Given the description of an element on the screen output the (x, y) to click on. 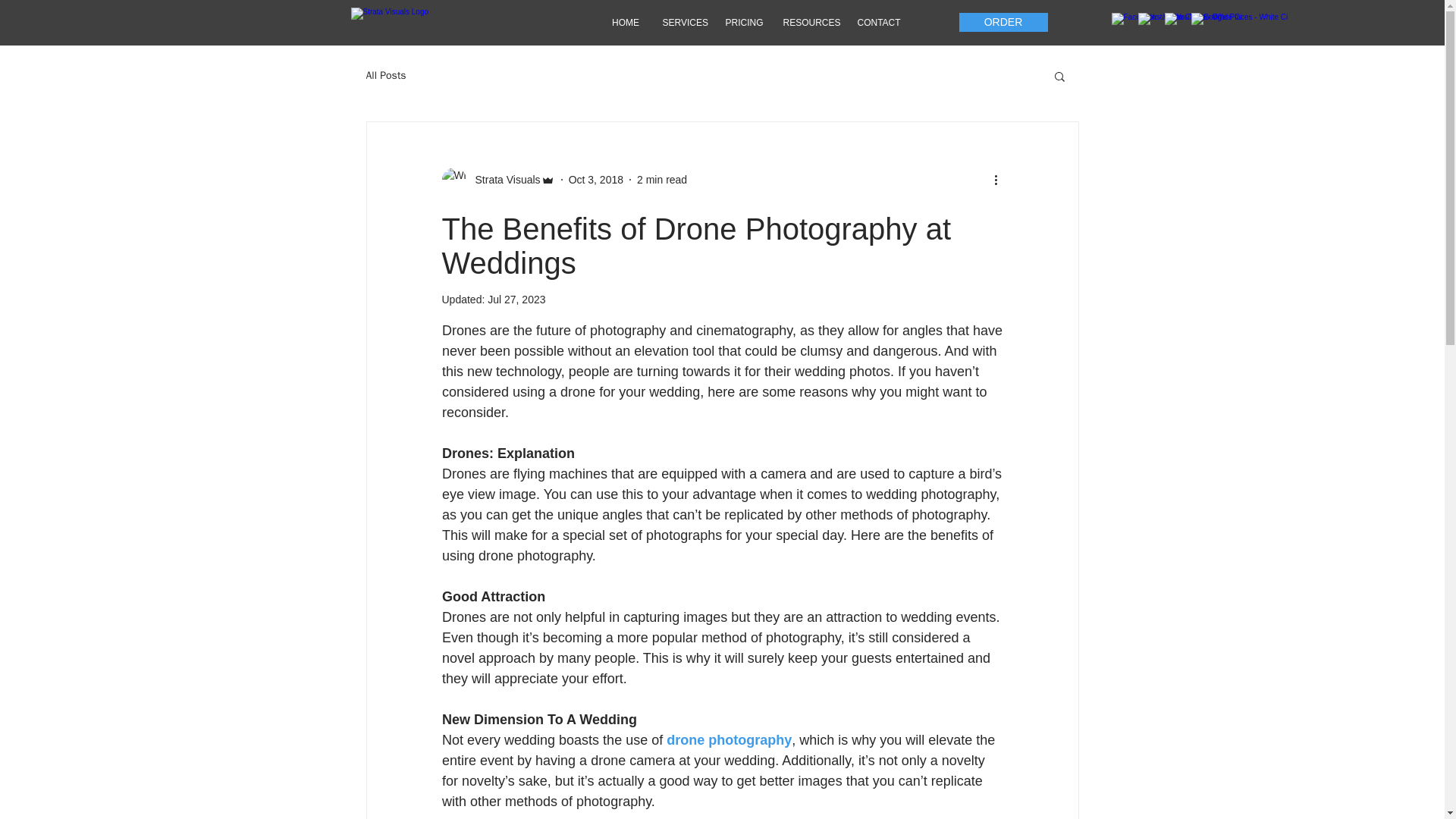
Strata Visuals (502, 179)
All Posts (385, 75)
HOME (624, 22)
ORDER (1002, 22)
Strata Visuals (497, 179)
drone photography (729, 739)
2 min read (662, 178)
Oct 3, 2018 (596, 178)
Jul 27, 2023 (515, 299)
